Given the description of an element on the screen output the (x, y) to click on. 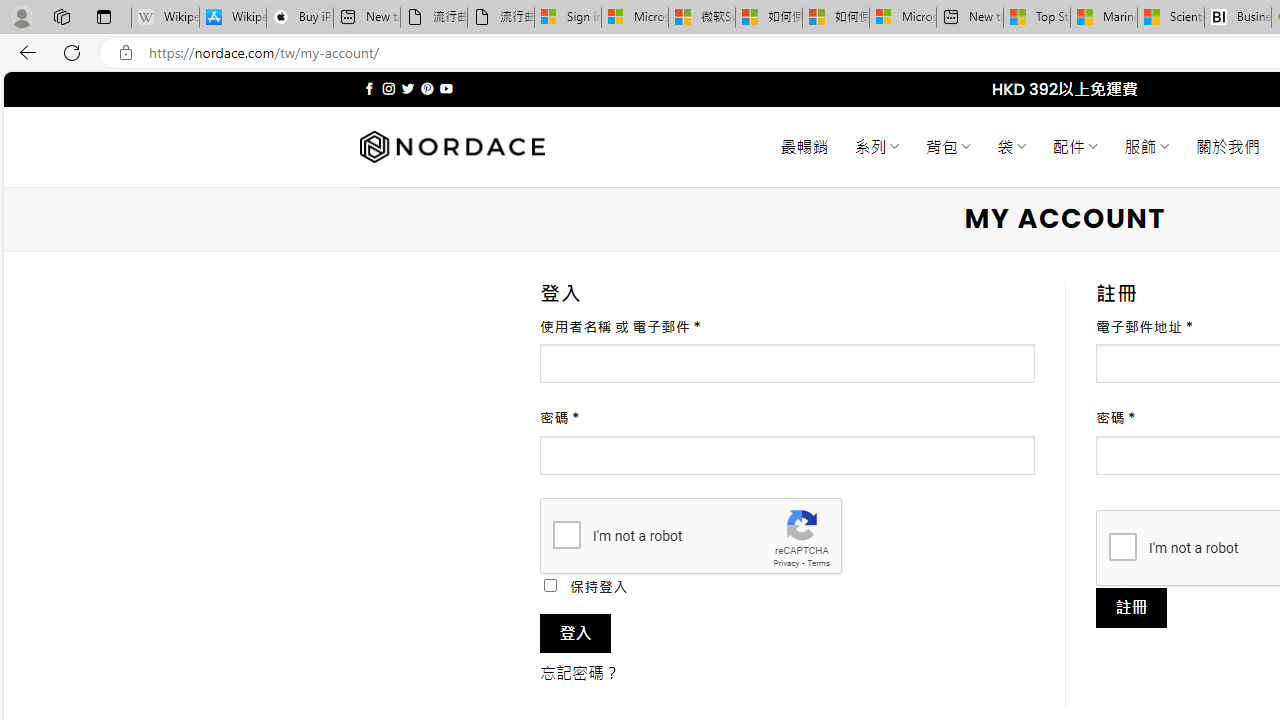
Follow on Twitter (406, 88)
Follow on Pinterest (427, 88)
